Given the description of an element on the screen output the (x, y) to click on. 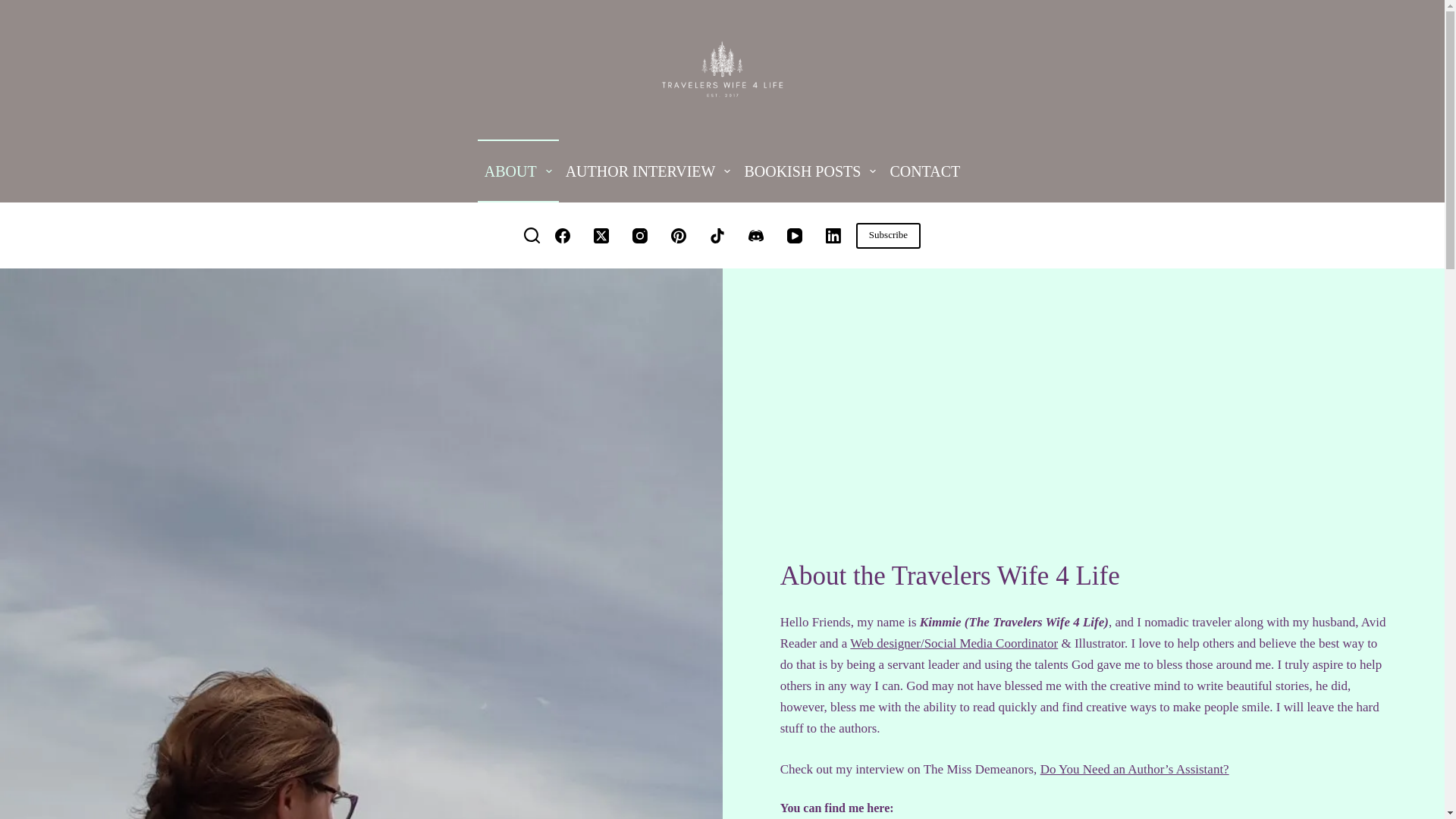
BOOKISH POSTS (809, 170)
ABOUT (518, 170)
AUTHOR INTERVIEW (648, 170)
Skip to content (15, 7)
